Given the description of an element on the screen output the (x, y) to click on. 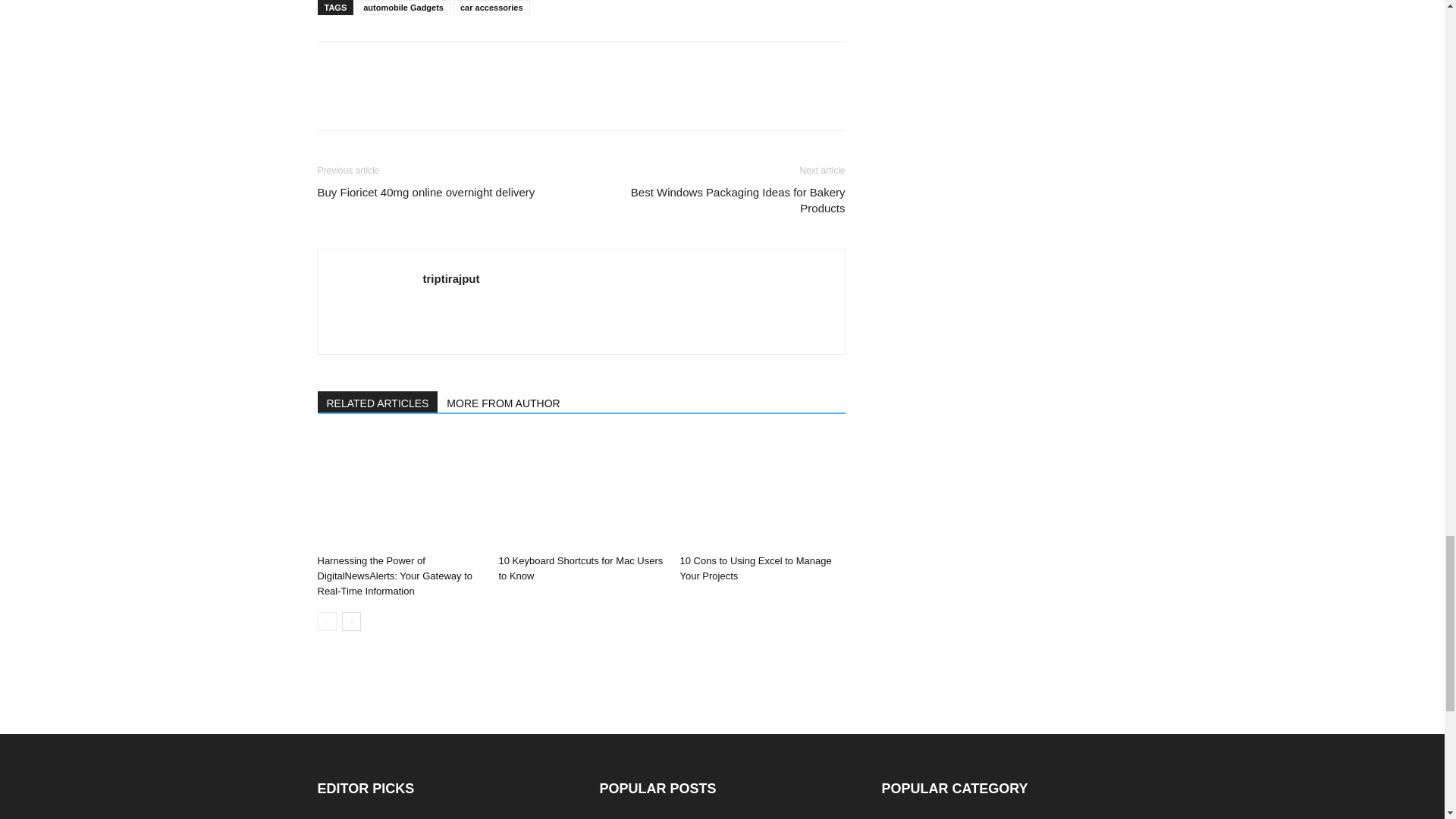
MORE FROM AUTHOR (503, 401)
10 Keyboard Shortcuts for Mac Users to Know  (579, 568)
bottomFacebookLike (430, 65)
car accessories (490, 7)
RELATED ARTICLES (377, 401)
automobile Gadgets (402, 7)
Best Windows Packaging Ideas for Bakery Products (721, 200)
triptirajput (451, 278)
Buy Fioricet 40mg online overnight delivery (425, 191)
